Given the description of an element on the screen output the (x, y) to click on. 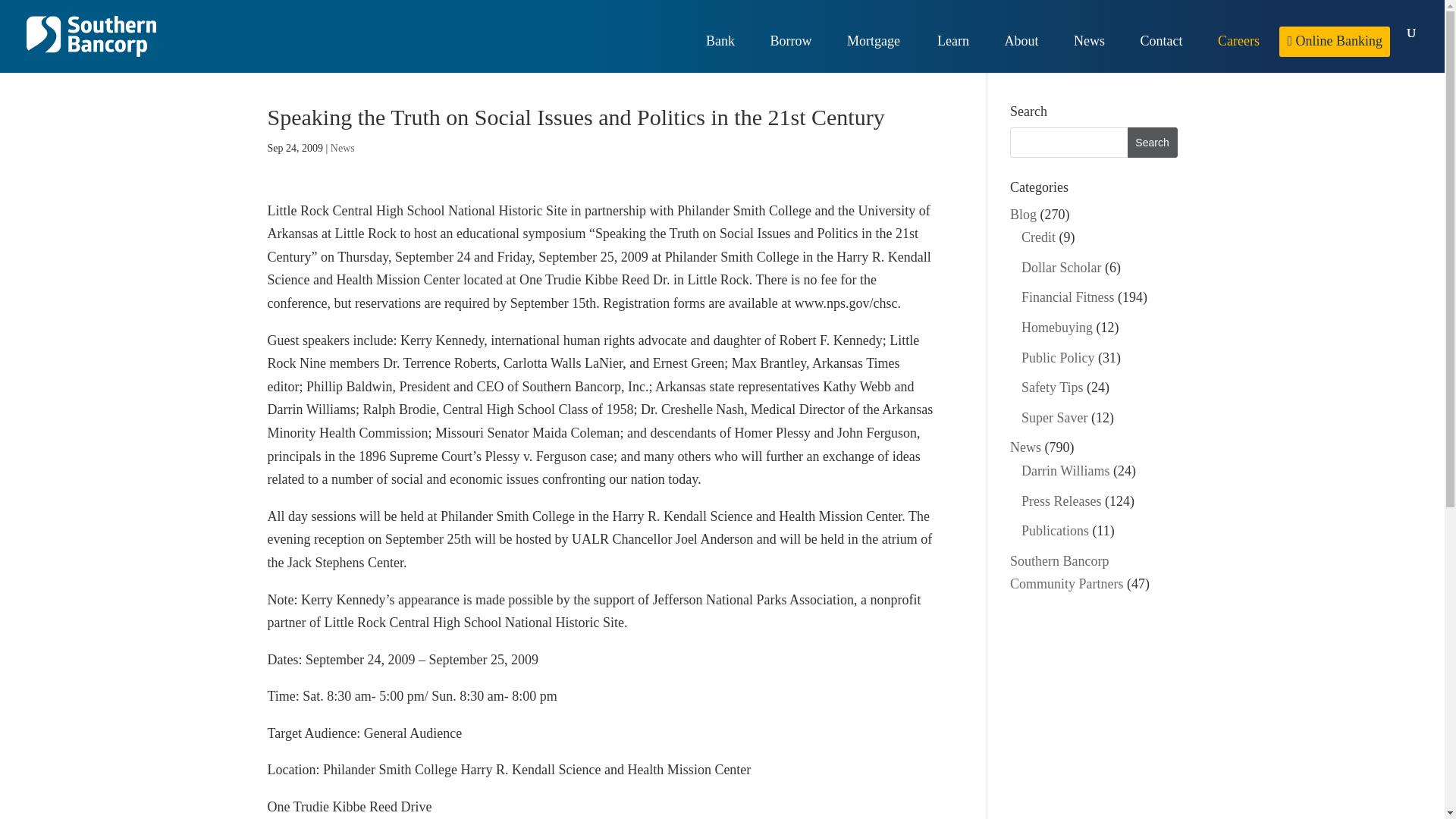
Search (1151, 142)
Mortgage      (882, 54)
Bank (727, 54)
Learn (960, 54)
Borrow (798, 54)
